Given the description of an element on the screen output the (x, y) to click on. 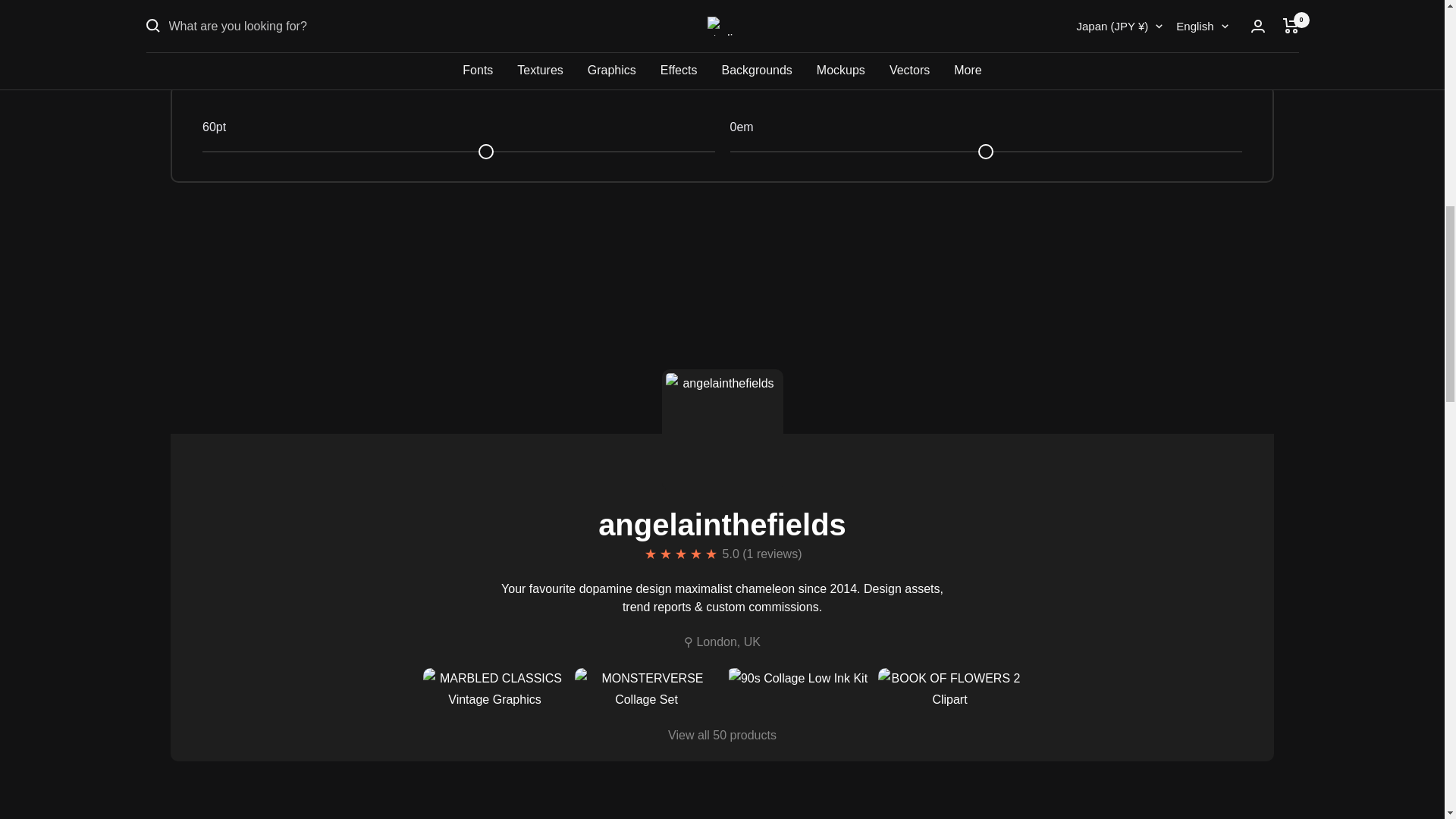
BR (1004, 36)
IO (1004, 63)
VG (1004, 89)
BW (1004, 11)
